Given the description of an element on the screen output the (x, y) to click on. 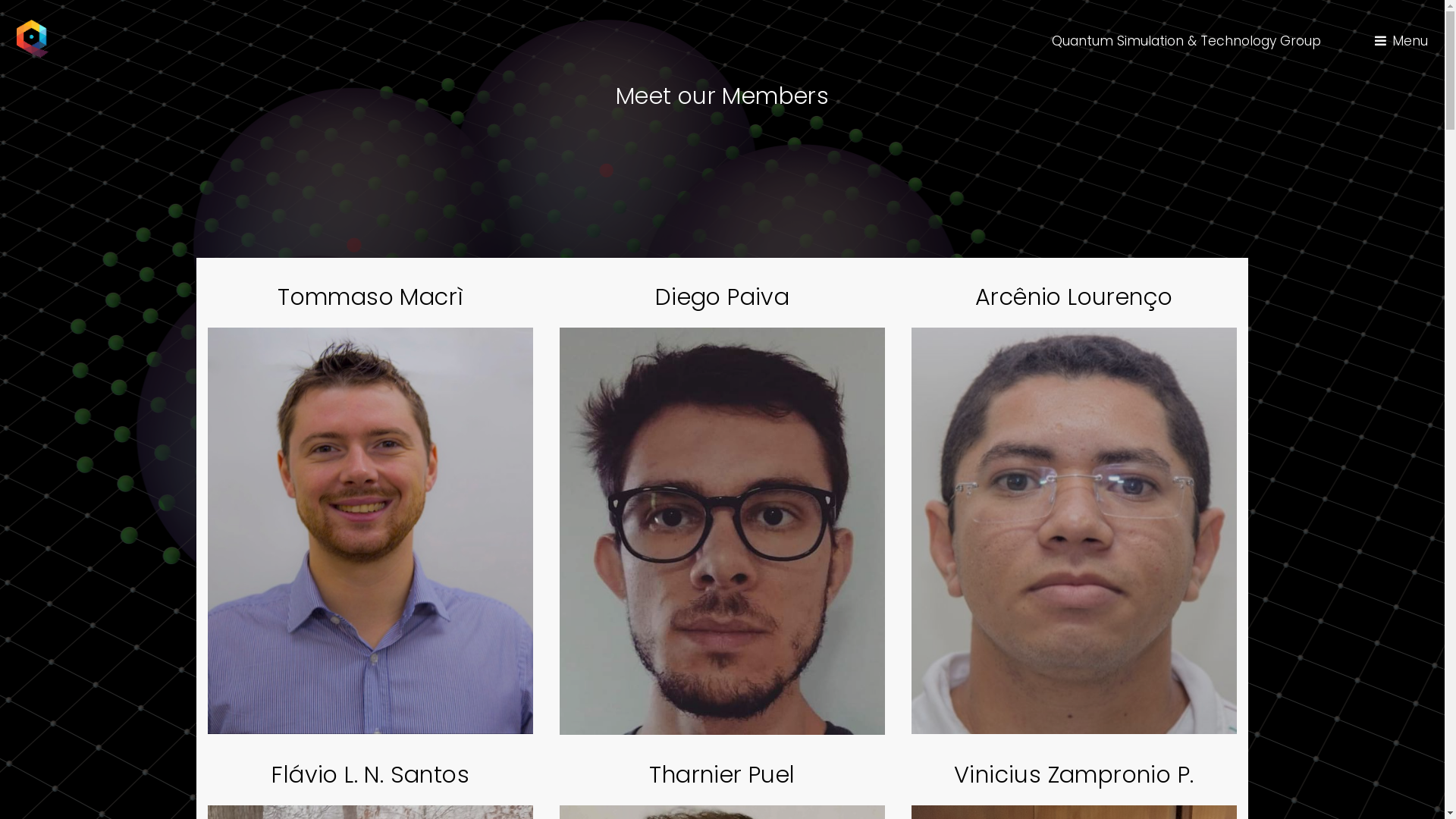
Quantum Simulation & Technology Group Element type: text (1185, 40)
Menu Element type: text (1400, 40)
